Given the description of an element on the screen output the (x, y) to click on. 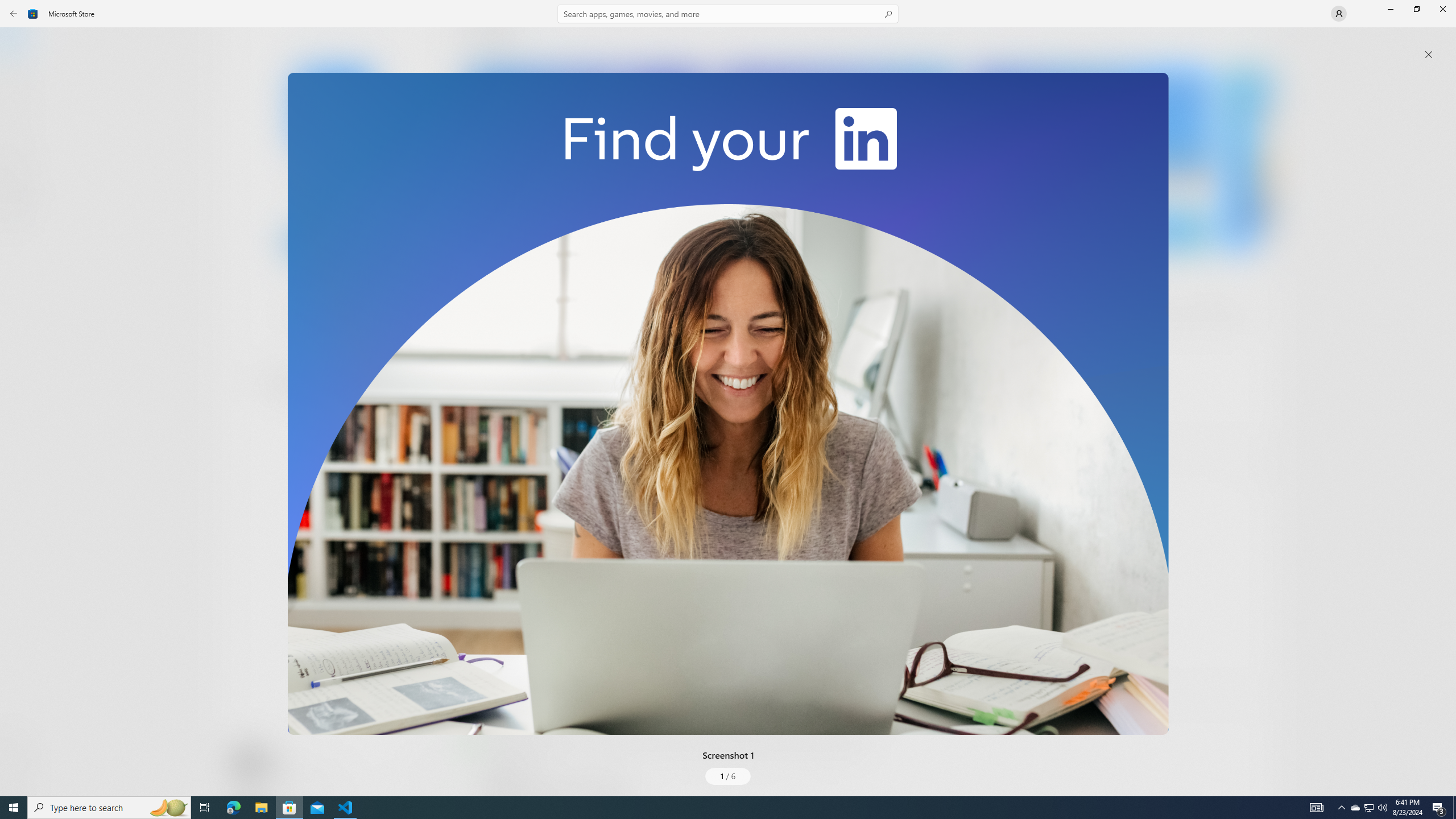
Screenshot 1 (727, 403)
Show all ratings and reviews (1253, 465)
Restore Microsoft Store (1416, 9)
Minimize Microsoft Store (1390, 9)
Arcade (20, 150)
See all (1253, 41)
Screenshot 2 (836, 158)
AutomationID: NavigationControl (728, 398)
Share (424, 769)
Class: Image (727, 403)
Library (20, 773)
Show more (485, 426)
Social (329, 423)
Get (334, 241)
Age rating: TEEN. Click for more information. (276, 762)
